Given the description of an element on the screen output the (x, y) to click on. 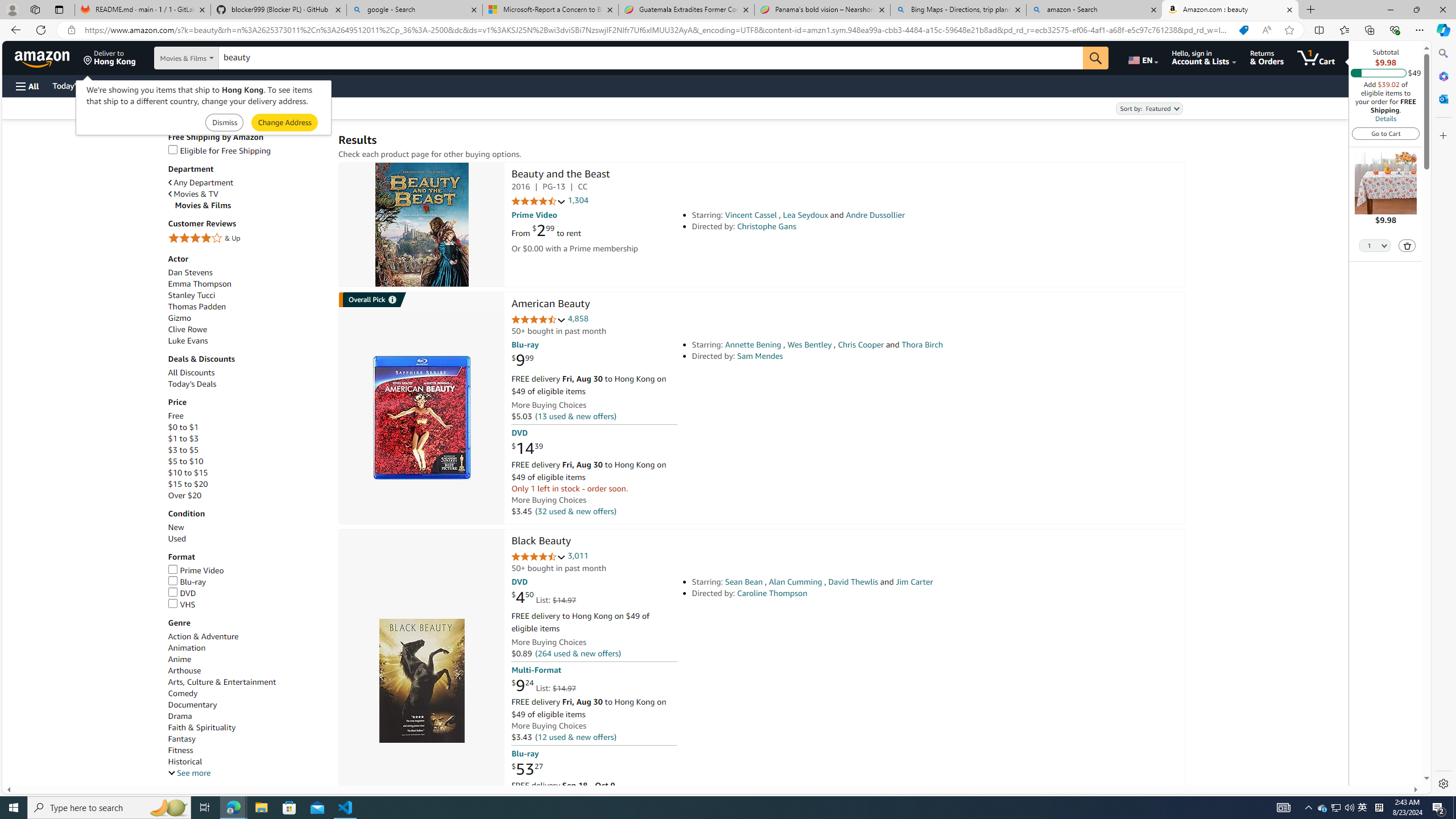
Thora Birch (922, 344)
amazon - Search (1094, 9)
From $2.99 to rent (545, 230)
Chris Cooper (860, 344)
Directed by: Christophe Gans (850, 226)
